Given the description of an element on the screen output the (x, y) to click on. 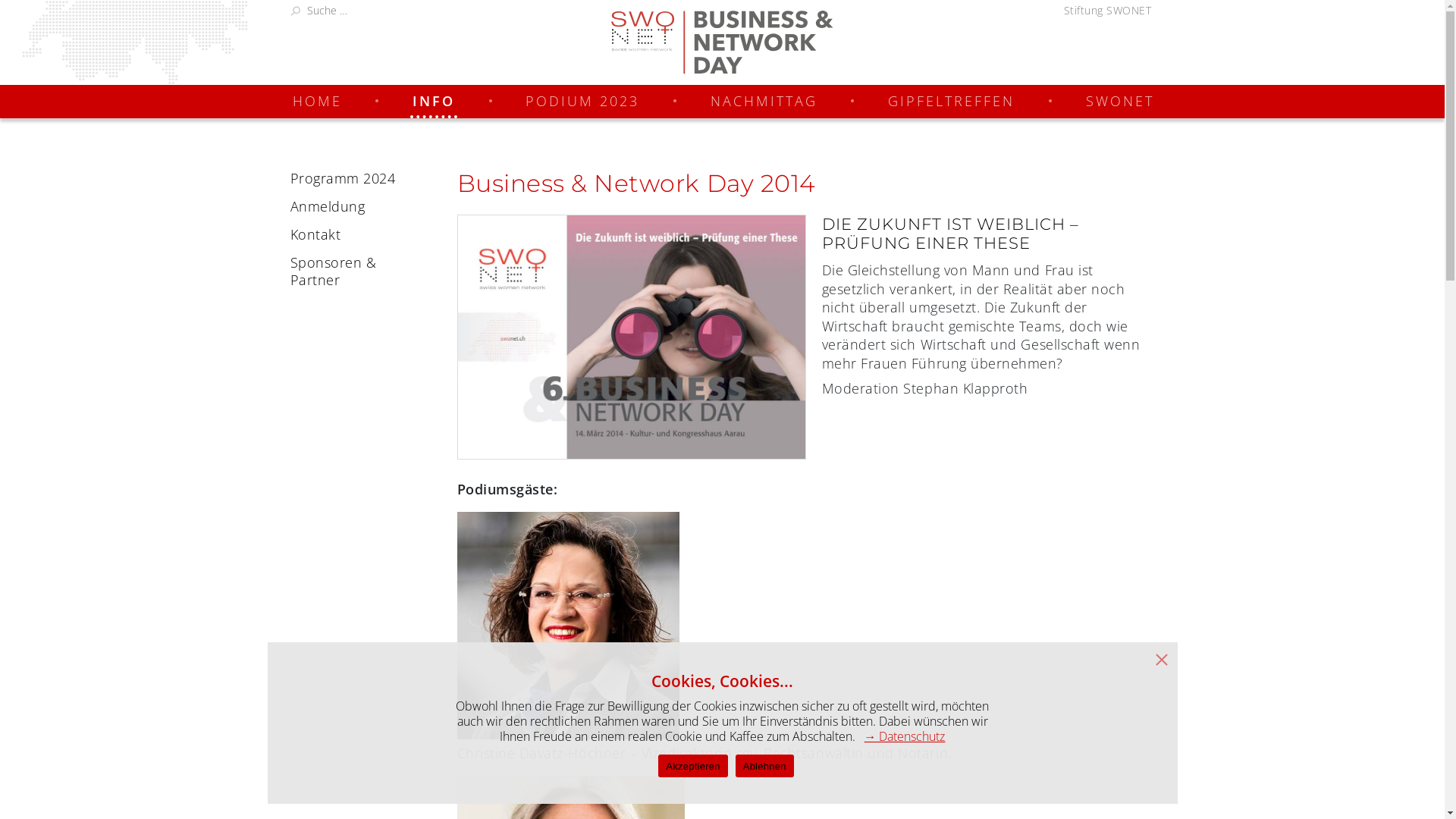
Ablehnen Element type: hover (1159, 657)
SWONET Element type: text (1119, 101)
PODIUM 2023 Element type: text (582, 101)
Ablehnen Element type: text (764, 765)
Kontakt Element type: text (351, 234)
NACHMITTAG Element type: text (763, 101)
  Element type: text (722, 42)
GIPFELTREFFEN Element type: text (950, 101)
Stiftung SWONET Element type: text (1104, 10)
Anmeldung Element type: text (351, 206)
Programm 2024 Element type: text (351, 178)
Sponsoren & Partner Element type: text (351, 271)
Akzeptieren Element type: text (692, 765)
HOME Element type: text (316, 101)
INFO Element type: text (433, 101)
